Given the description of an element on the screen output the (x, y) to click on. 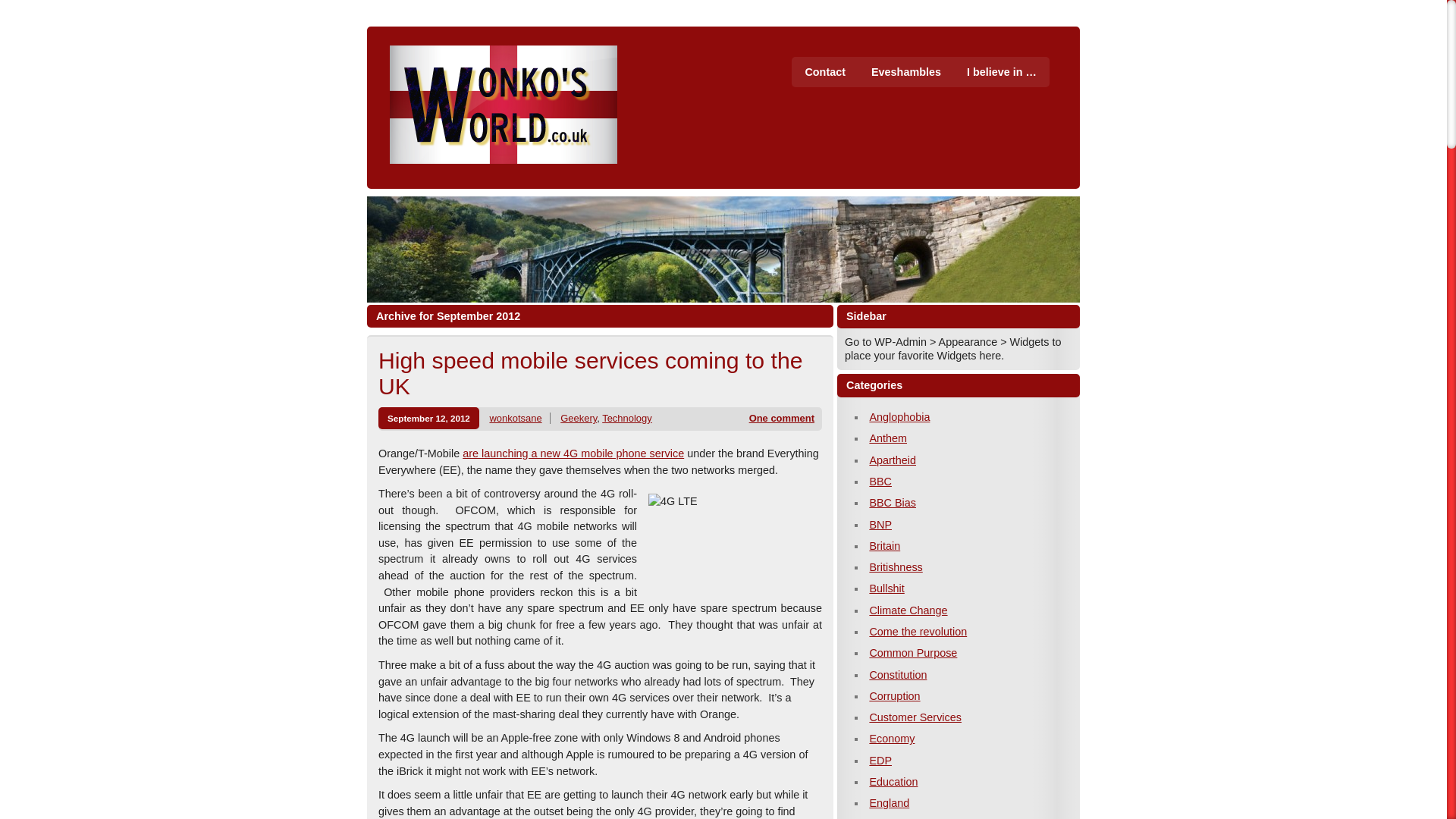
Constitution (897, 674)
Geekery (578, 418)
EDP (880, 760)
Customer Services (914, 717)
Posts by wonkotsane (515, 418)
BBC Bias (892, 502)
Come the revolution (917, 631)
September 12, 2012 (428, 418)
Anthem (888, 438)
